Given the description of an element on the screen output the (x, y) to click on. 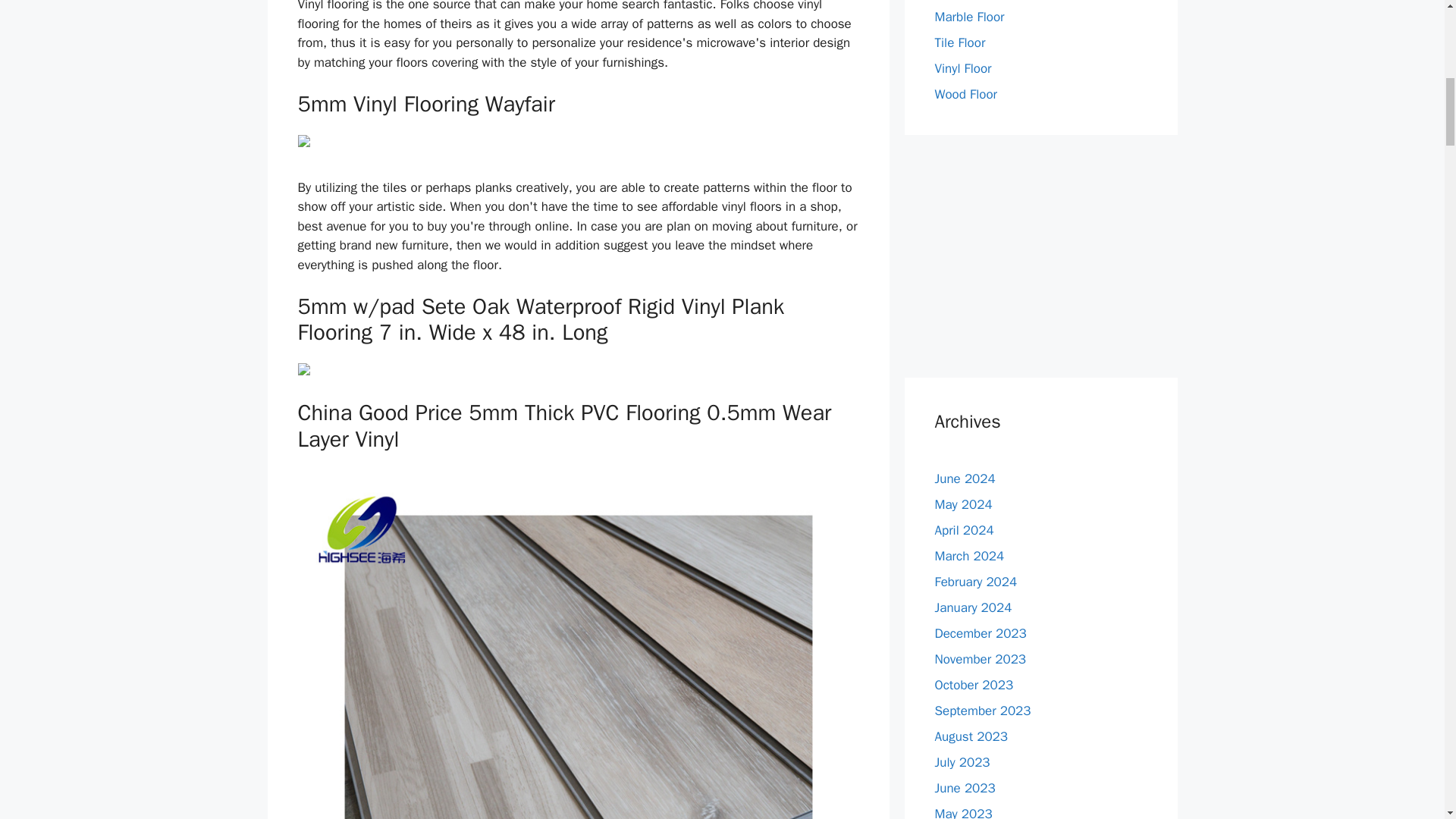
Tile Floor (959, 42)
Marble Floor (969, 17)
Advertisement (1040, 255)
